Given the description of an element on the screen output the (x, y) to click on. 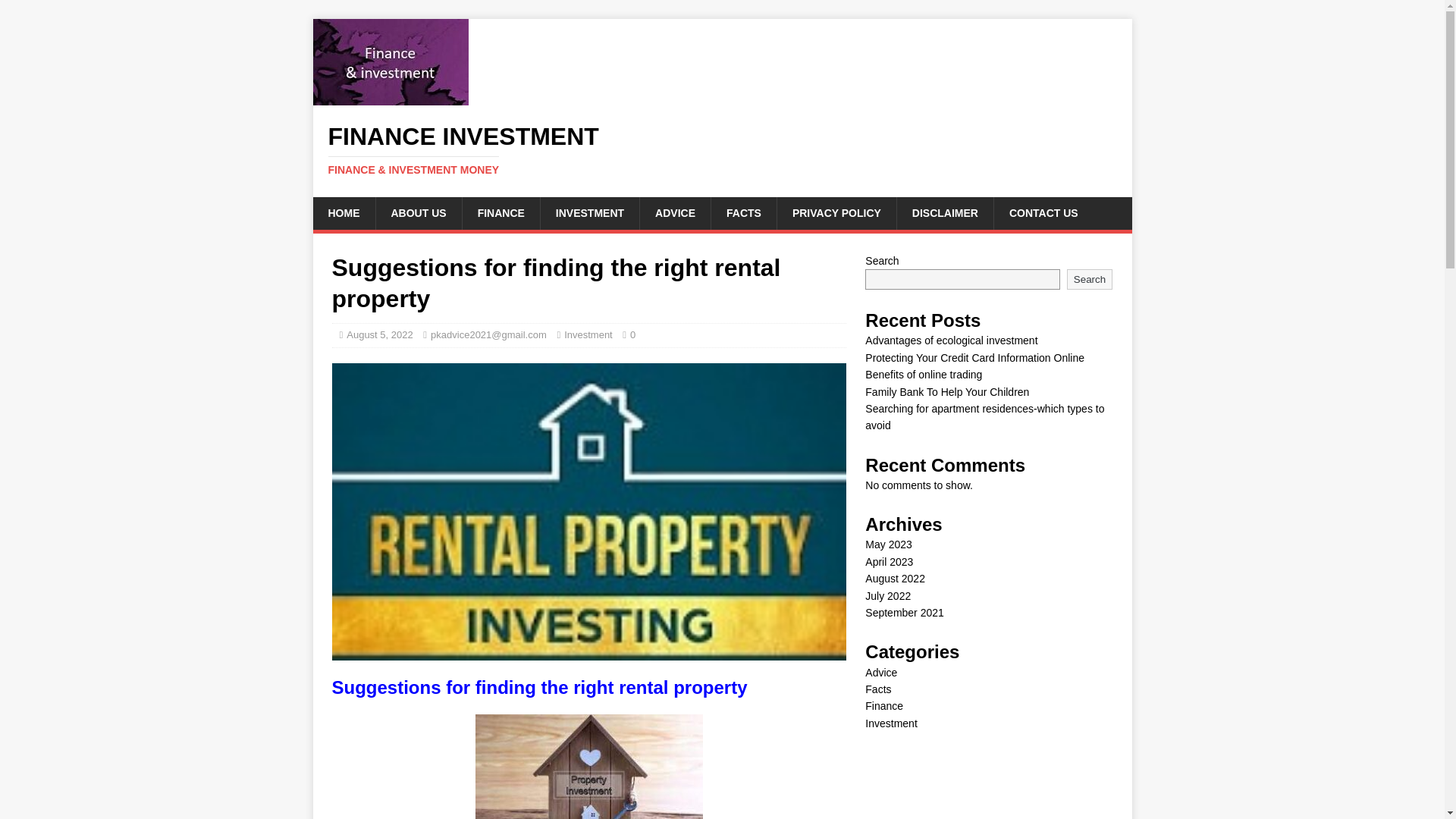
Advantages of ecological investment (950, 340)
ABOUT US (417, 213)
Protecting Your Credit Card Information Online (974, 357)
CONTACT US (1042, 213)
Finance Investment (721, 150)
PRIVACY POLICY (836, 213)
Family Bank To Help Your Children (946, 391)
ADVICE (674, 213)
Search (1088, 279)
FACTS (743, 213)
FINANCE (500, 213)
HOME (343, 213)
Benefits of online trading (922, 374)
Finance Investment (390, 96)
DISCLAIMER (944, 213)
